Given the description of an element on the screen output the (x, y) to click on. 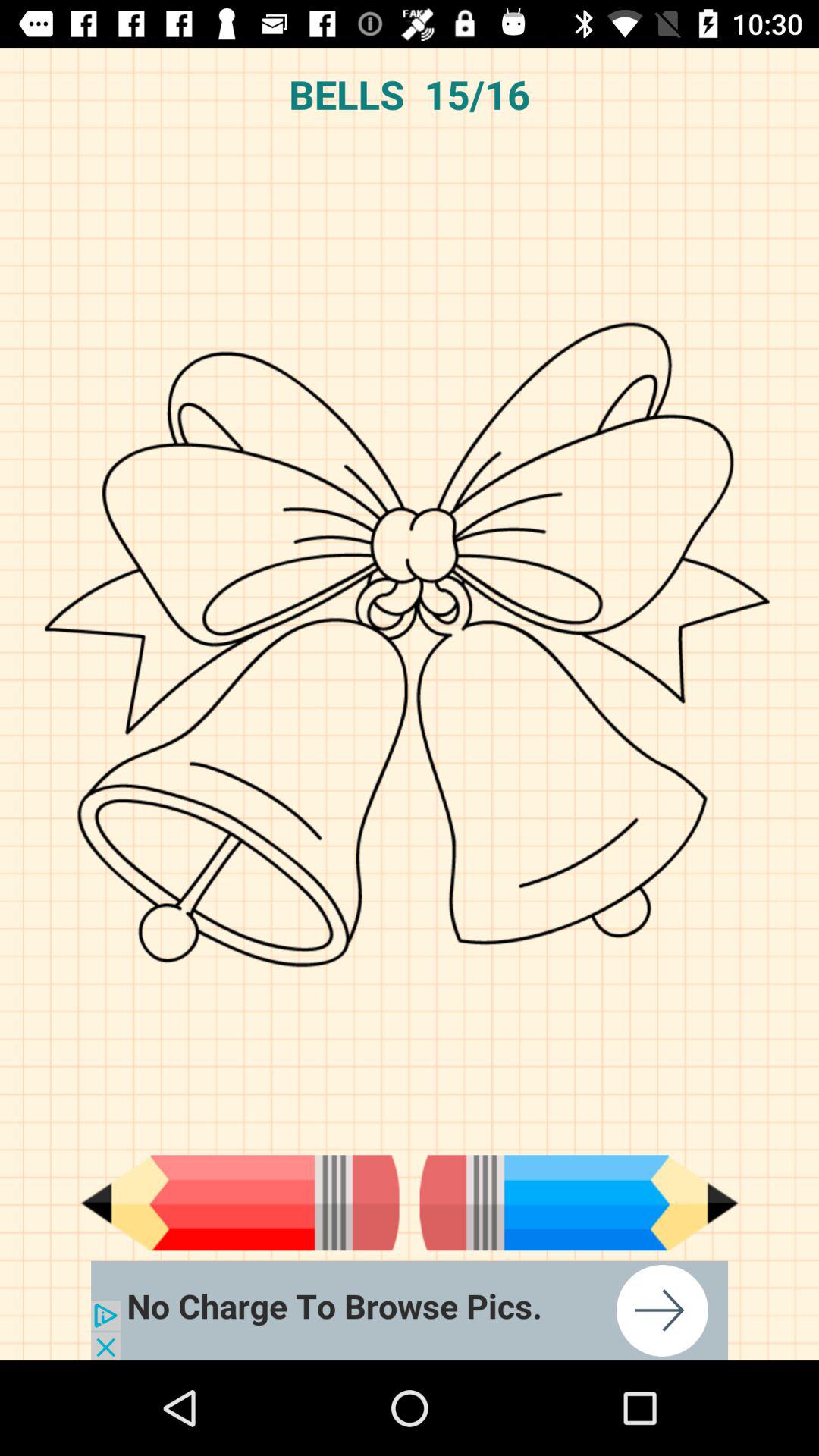
drawing pencil button (239, 1202)
